Given the description of an element on the screen output the (x, y) to click on. 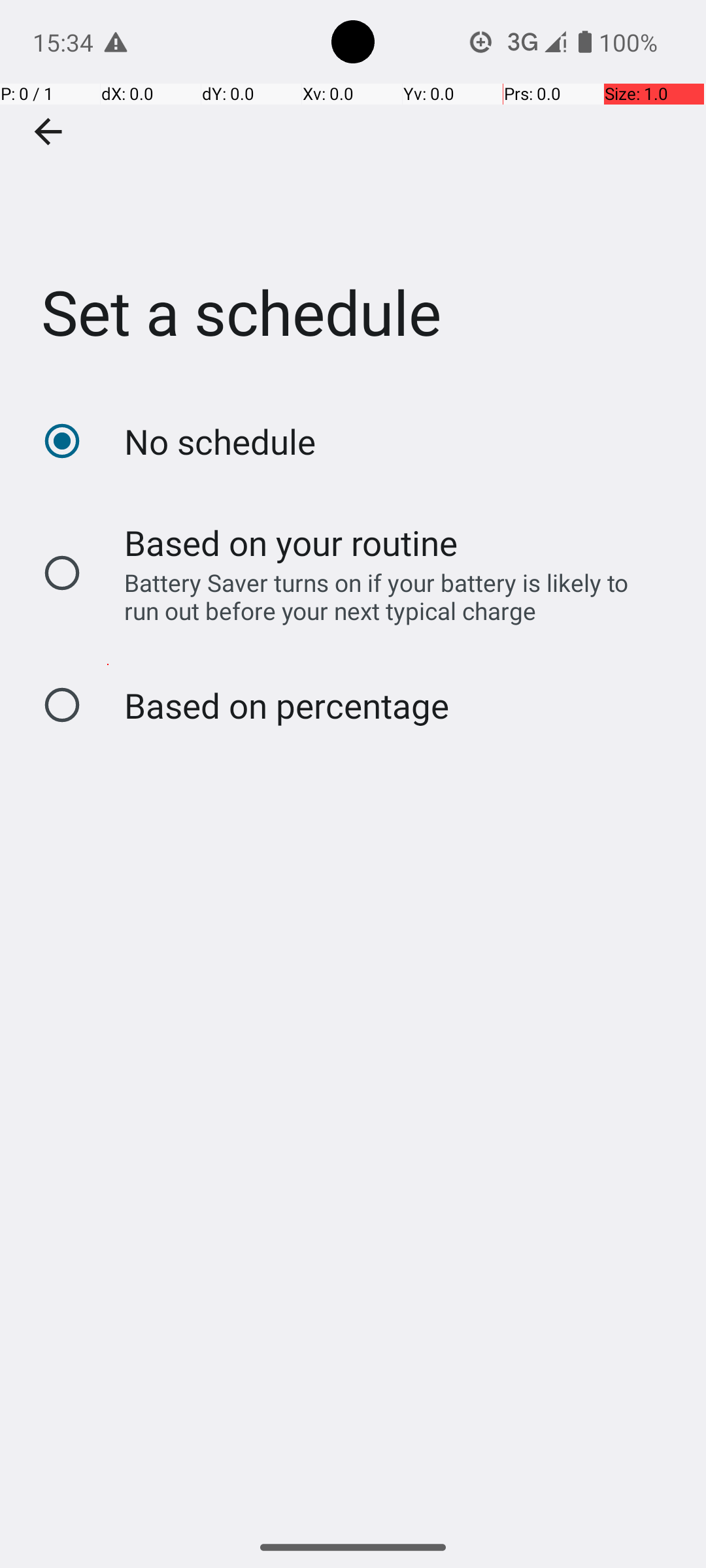
Set a schedule Element type: android.widget.FrameLayout (353, 195)
No schedule Element type: android.widget.TextView (219, 441)
Based on your routine Element type: android.widget.TextView (291, 542)
Battery Saver turns on if your battery is likely to run out before your next typical charge Element type: android.widget.TextView (387, 596)
Based on percentage Element type: android.widget.TextView (286, 705)
